Given the description of an element on the screen output the (x, y) to click on. 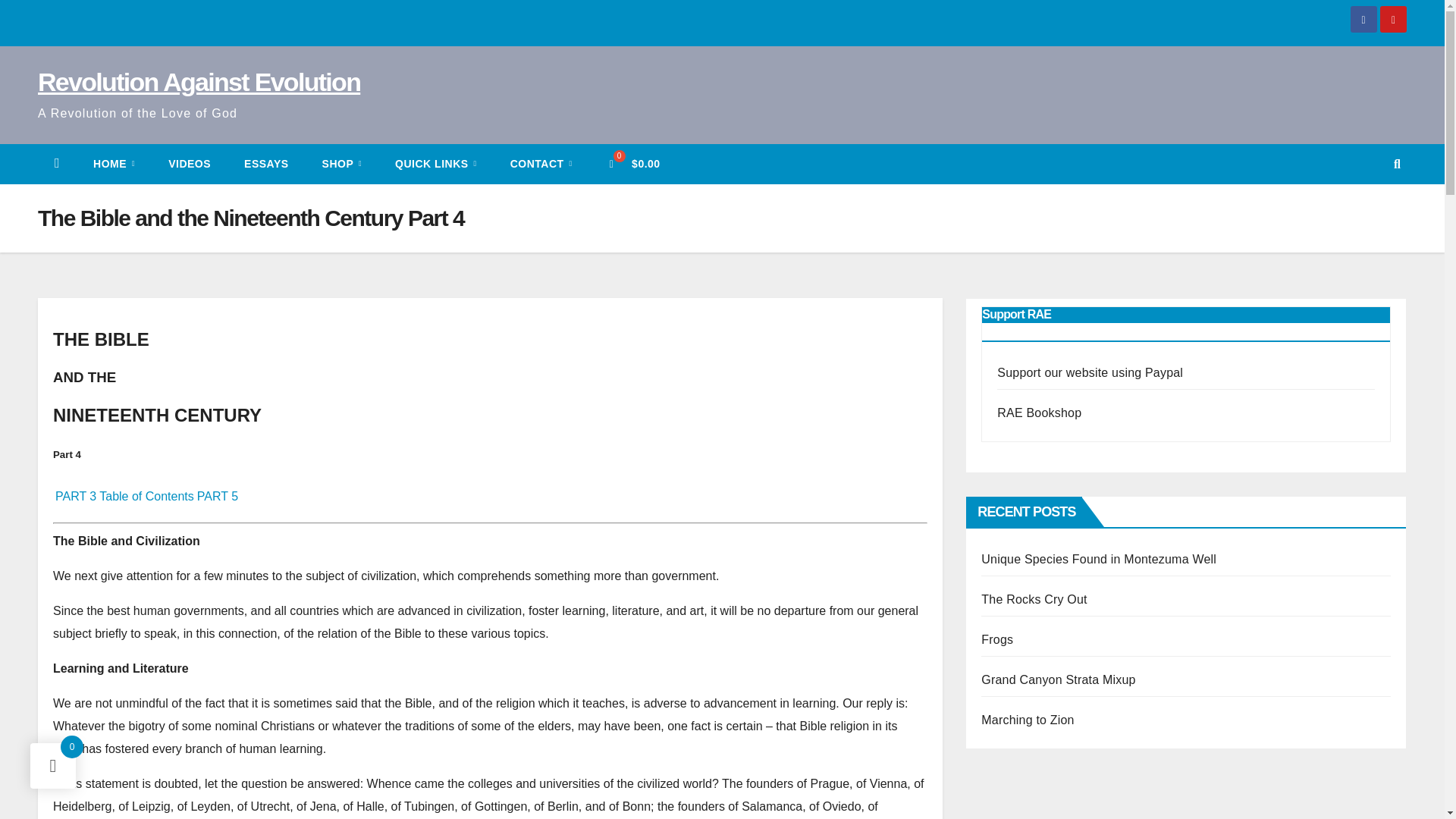
ESSAYS (266, 163)
Support our website using Paypal (1089, 372)
QUICK LINKS (435, 163)
RAE Bookshop (1039, 412)
Revolution Against Evolution (198, 81)
Table of Contents (146, 495)
HOME (114, 163)
SHOP (341, 163)
HOME (114, 163)
PART 5 (217, 495)
